Given the description of an element on the screen output the (x, y) to click on. 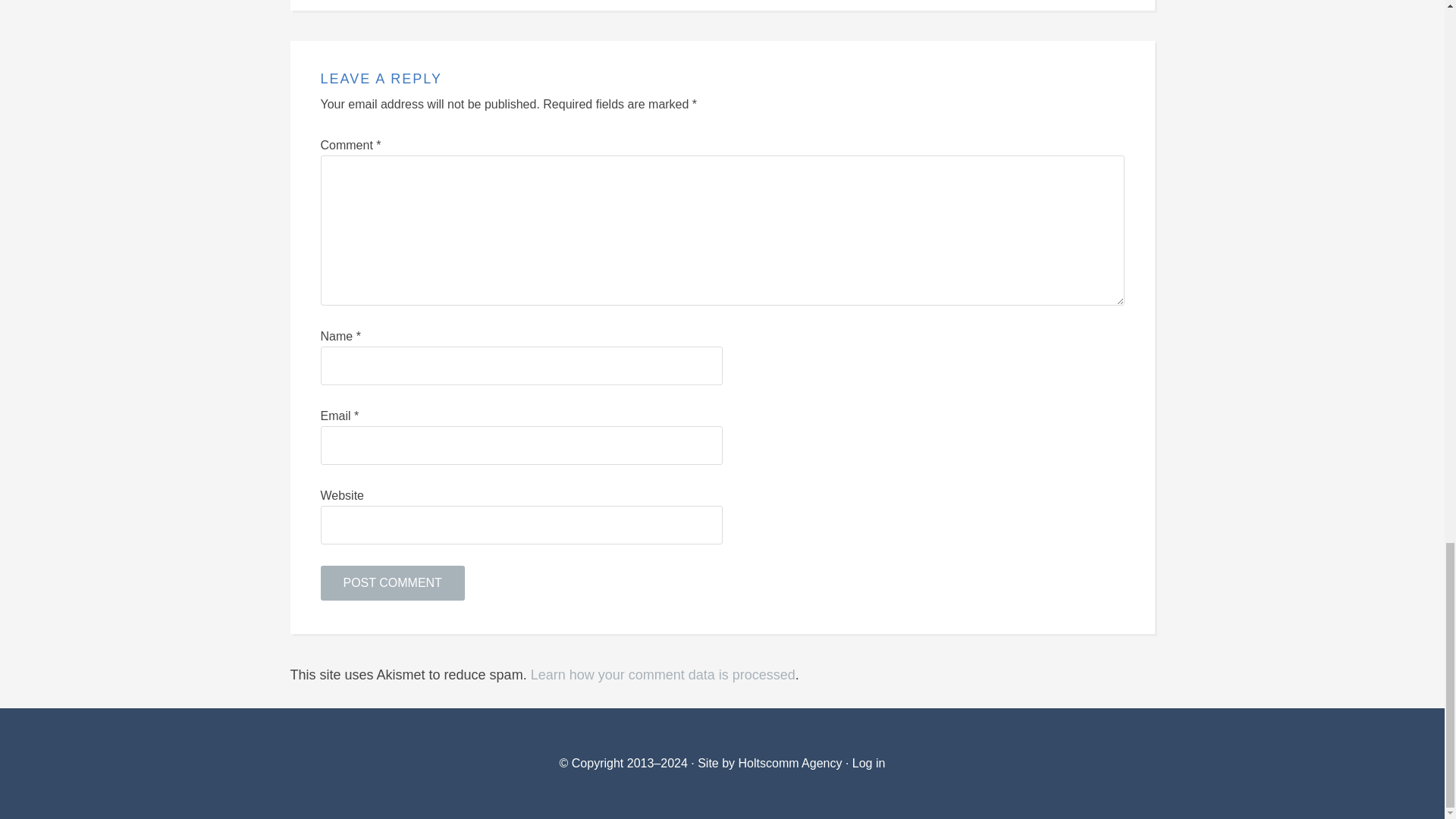
Holtscomm Agency (788, 762)
Log in (868, 762)
Post Comment (392, 582)
Post Comment (392, 582)
Learn how your comment data is processed (662, 674)
